Given the description of an element on the screen output the (x, y) to click on. 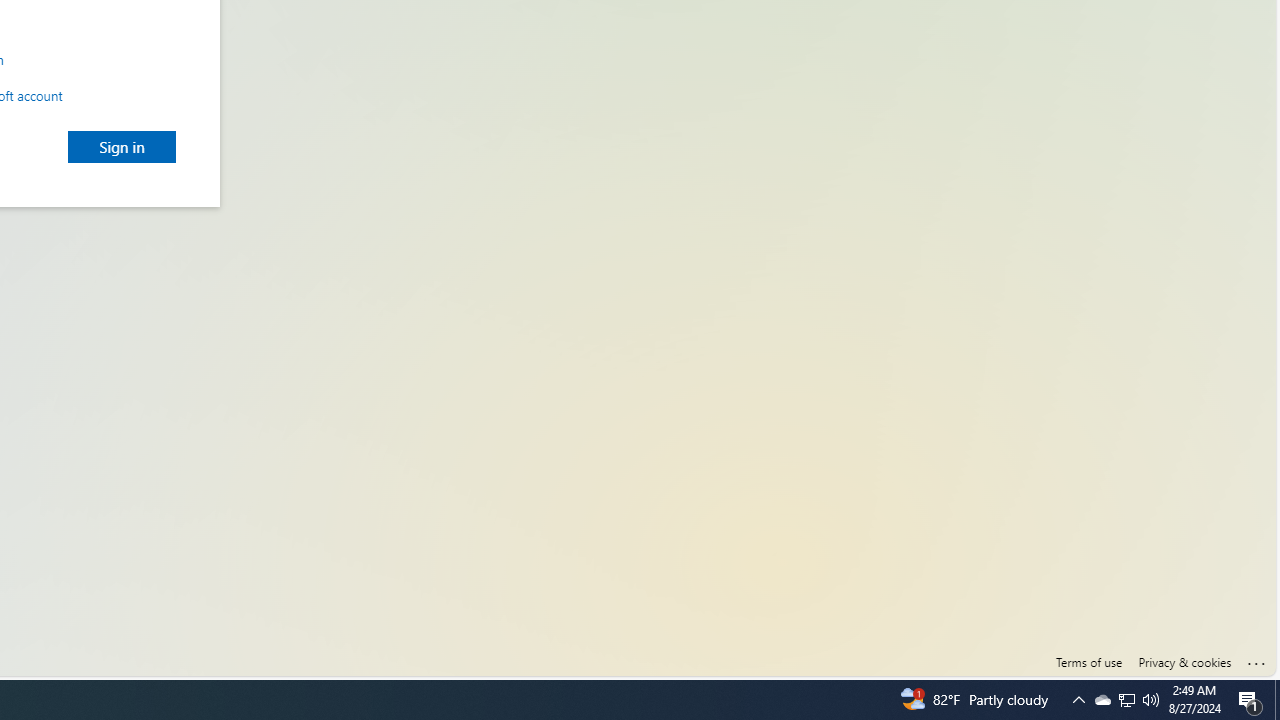
Click here for troubleshooting information (1257, 659)
Privacy & cookies (1184, 662)
Terms of use (1088, 662)
Sign in (121, 146)
